Given the description of an element on the screen output the (x, y) to click on. 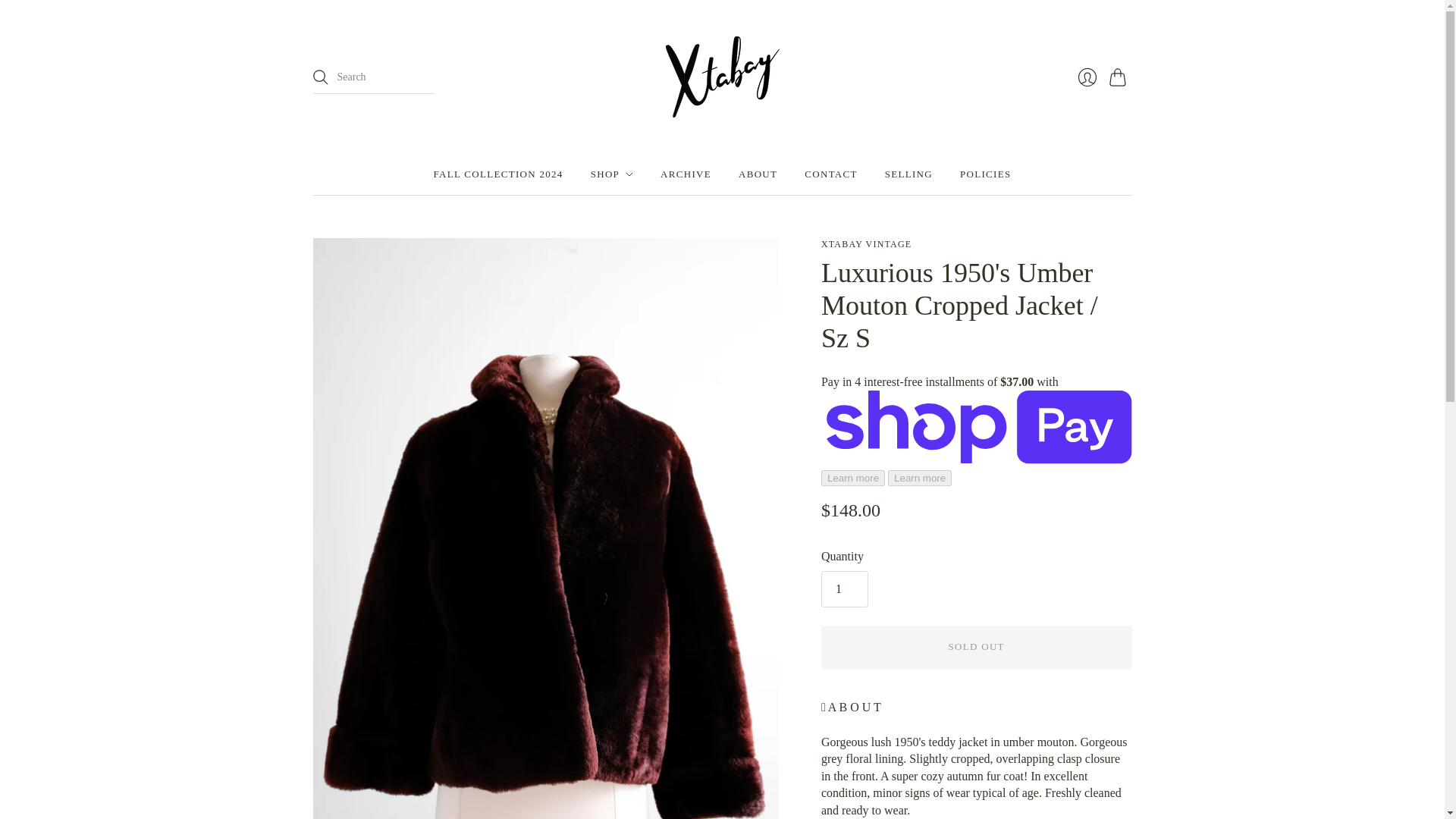
POLICIES (984, 174)
ABOUT (757, 174)
SHOP (612, 174)
Xtabay Vintage (866, 244)
ARCHIVE (686, 174)
CONTACT (831, 174)
SELLING (909, 174)
Cart (1119, 77)
1 (844, 588)
Login (1086, 77)
